Given the description of an element on the screen output the (x, y) to click on. 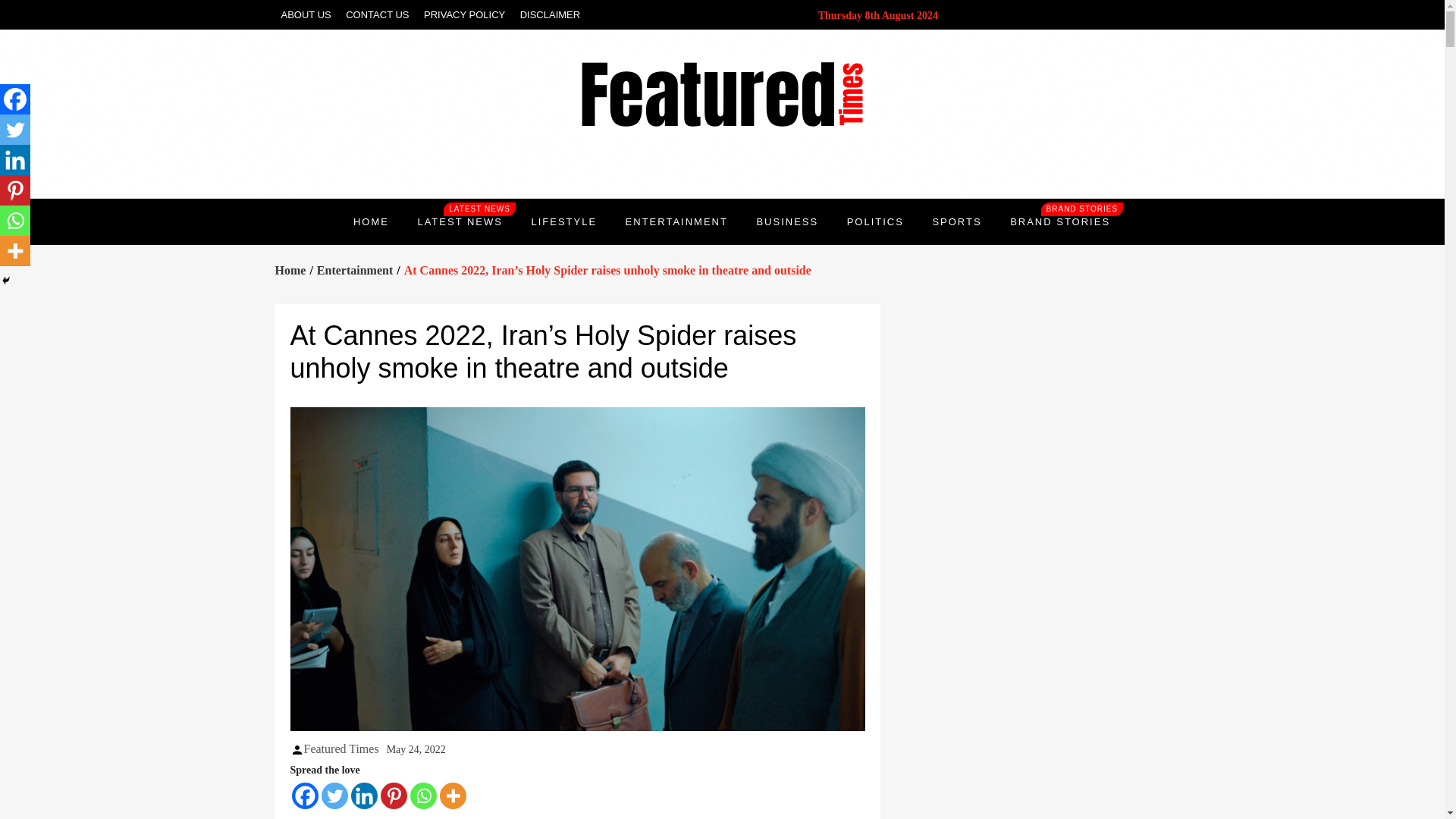
DISCLAIMER (549, 14)
PRIVACY POLICY (464, 14)
Linkedin (15, 159)
More (15, 250)
Hide (5, 280)
Pinterest (393, 795)
ABOUT US (305, 14)
HOME (370, 221)
Pinterest (1059, 221)
May 24, 2022 (15, 190)
Entertainment (416, 748)
POLITICS (355, 269)
Featured Times (875, 221)
BUSINESS (340, 748)
